Given the description of an element on the screen output the (x, y) to click on. 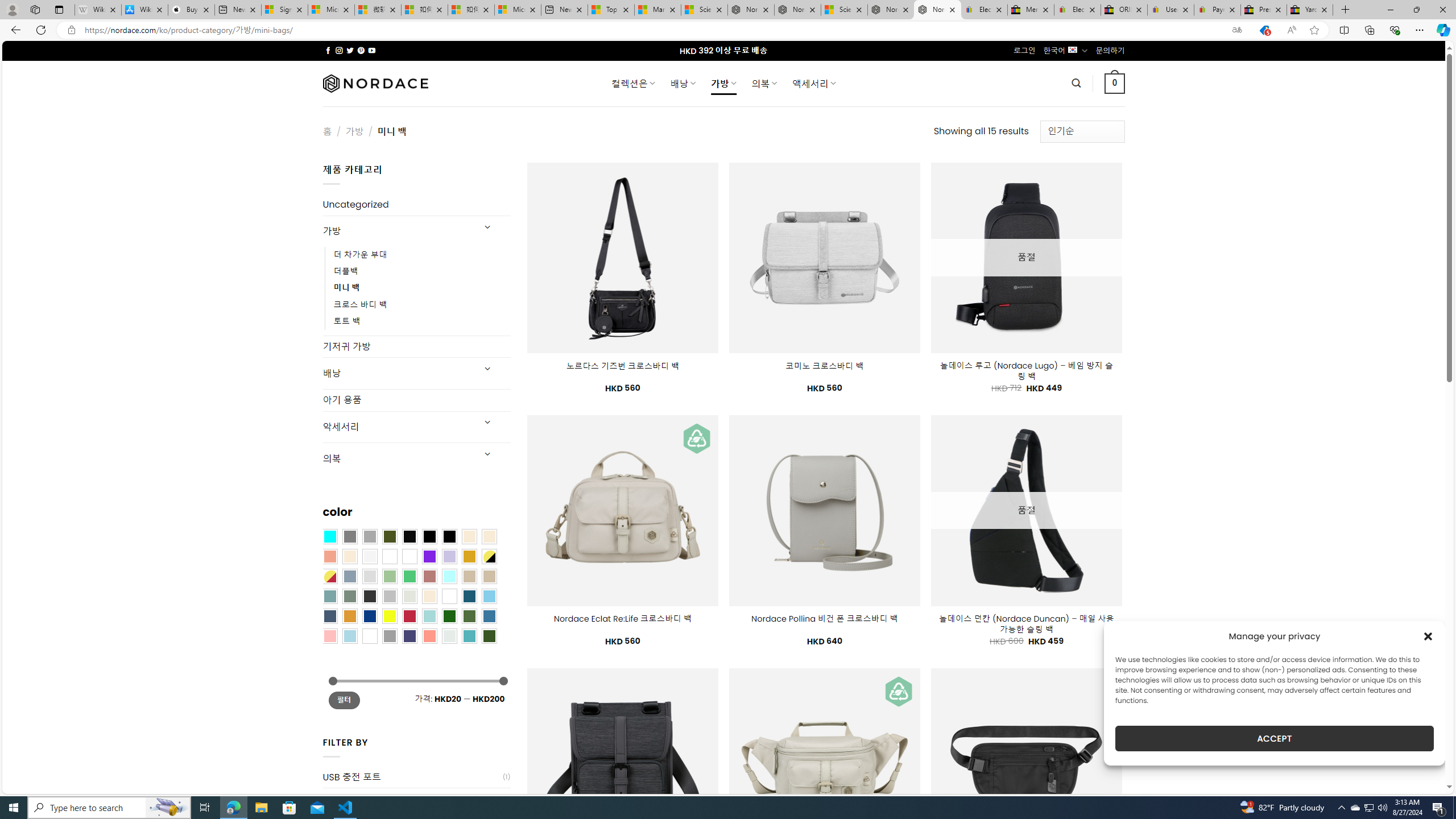
Uncategorized (416, 204)
Follow on YouTube (371, 50)
